Given the description of an element on the screen output the (x, y) to click on. 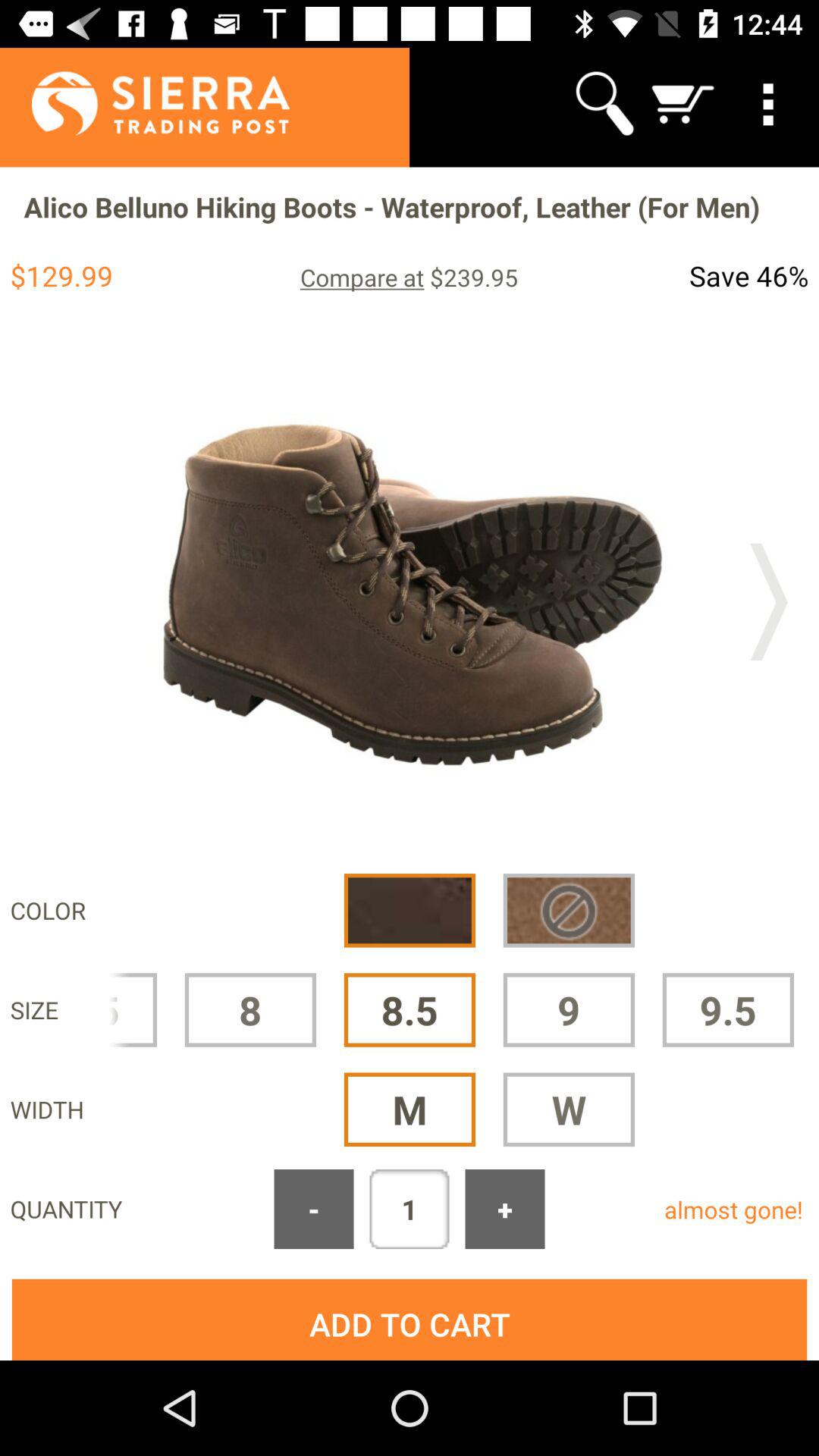
turn off icon above the add to cart icon (313, 1208)
